Given the description of an element on the screen output the (x, y) to click on. 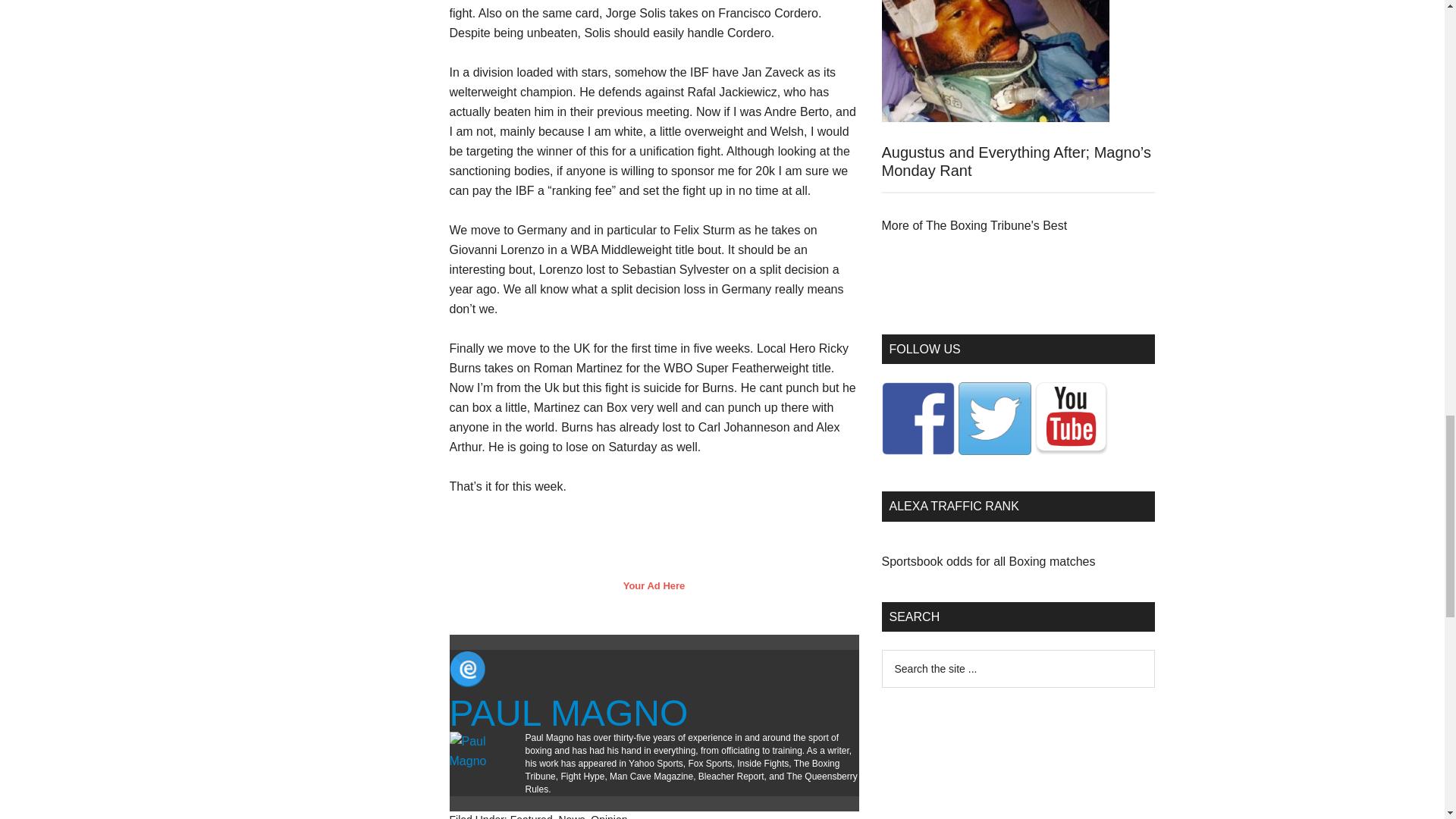
PAUL MAGNO (567, 712)
Paul Magno (567, 712)
Opinion (609, 816)
News (571, 816)
bestof (973, 225)
Follow us on Twitter (994, 418)
Your Ad Here (654, 585)
Featured (532, 816)
Follow us on Facebook (916, 418)
Sportsbook odds for all Boxing matches (987, 561)
Find us on YouTube (1069, 418)
